Given the description of an element on the screen output the (x, y) to click on. 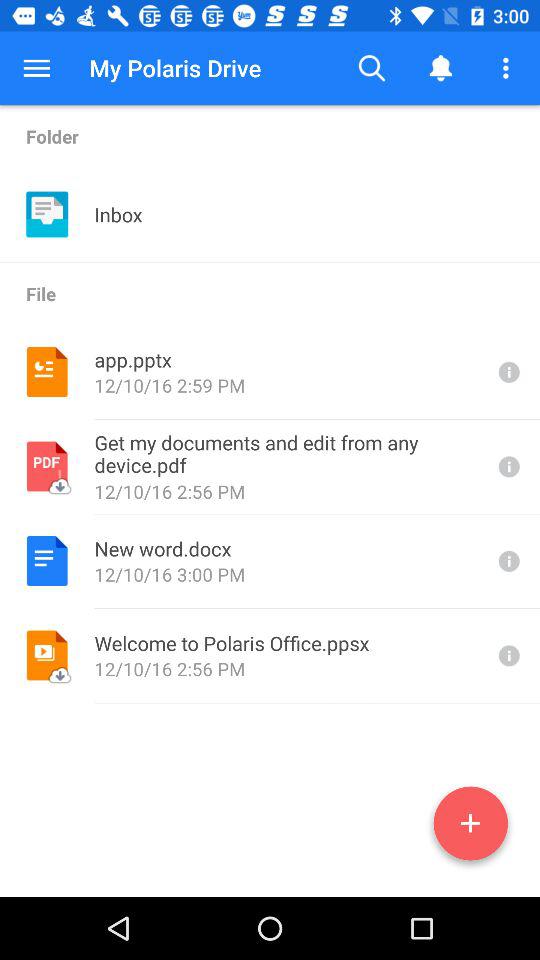
scroll to my polaris drive icon (175, 68)
